Given the description of an element on the screen output the (x, y) to click on. 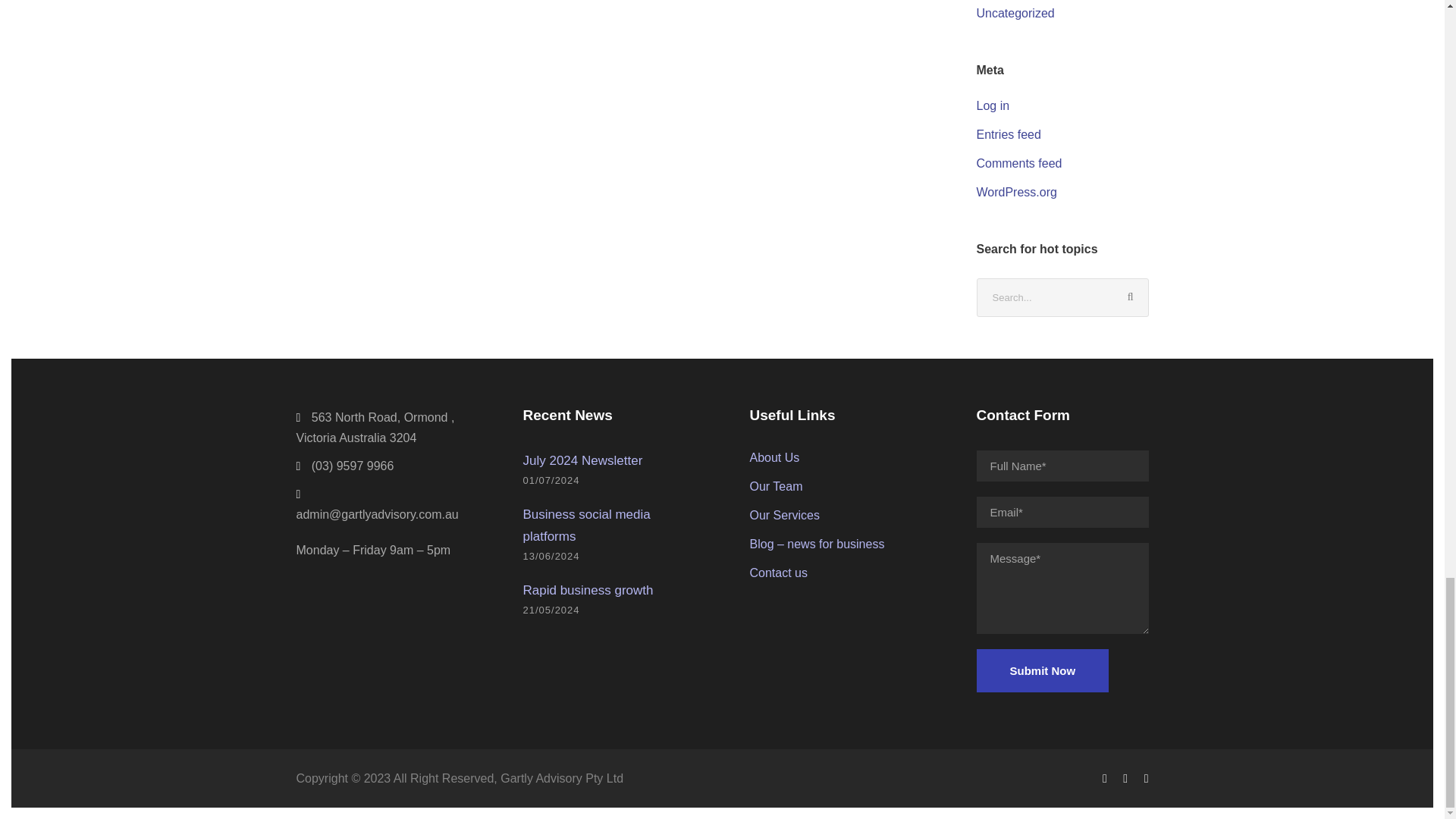
Submit Now (1042, 670)
